Given the description of an element on the screen output the (x, y) to click on. 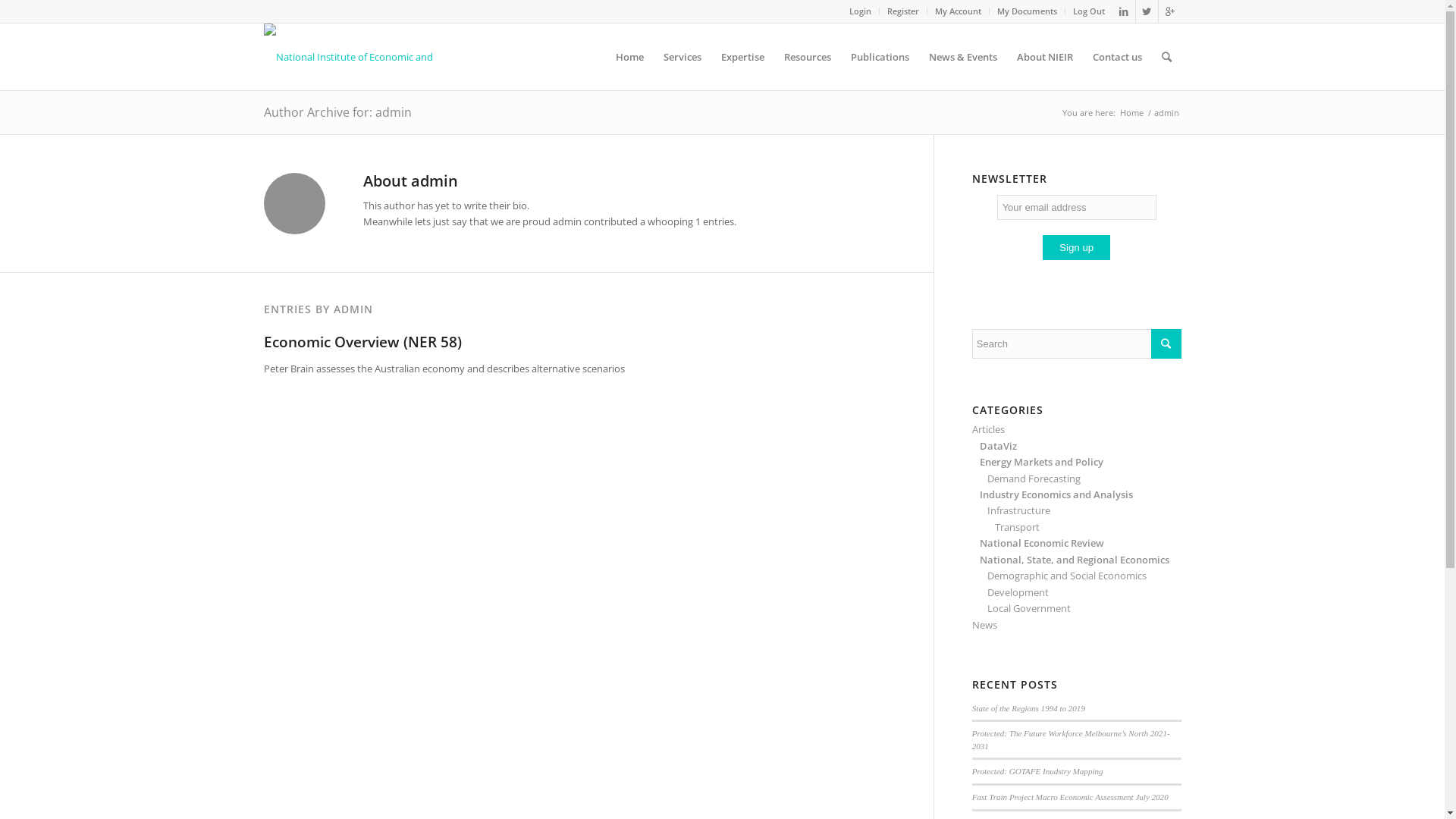
Home Element type: text (628, 56)
Expertise Element type: text (742, 56)
Sign up Element type: text (1076, 247)
Resources Element type: text (806, 56)
Local Government Element type: text (1028, 608)
Login Element type: text (860, 10)
Protected: GOTAFE Inudstry Mapping Element type: text (1037, 770)
My Account Element type: text (957, 10)
Infrastructure Element type: text (1018, 510)
State of the Regions 1994 to 2019 Element type: text (1028, 707)
Linkedin Element type: hover (1124, 11)
Services Element type: text (682, 56)
Home Element type: text (1131, 112)
Publications Element type: text (879, 56)
Transport Element type: text (1016, 526)
Articles Element type: text (988, 429)
Gplus Element type: hover (1169, 11)
Industry Economics and Analysis Element type: text (1055, 494)
Demographic and Social Economics Element type: text (1066, 575)
National, State, and Regional Economics Element type: text (1074, 559)
Contact us Element type: text (1116, 56)
Demand Forecasting Element type: text (1033, 478)
Fast Train Project Macro Economic Assessment July 2020 Element type: text (1070, 796)
News & Events Element type: text (963, 56)
Energy Markets and Policy Element type: text (1041, 461)
News Element type: text (984, 624)
My Documents Element type: text (1026, 10)
Twitter Element type: hover (1146, 11)
Register Element type: text (903, 10)
Log Out Element type: text (1088, 10)
National Economic Review Element type: text (1041, 542)
Economic Overview (NER 58) Element type: text (362, 341)
About NIEIR Element type: text (1044, 56)
Development Element type: text (1017, 592)
DataViz Element type: text (997, 445)
